Given the description of an element on the screen output the (x, y) to click on. 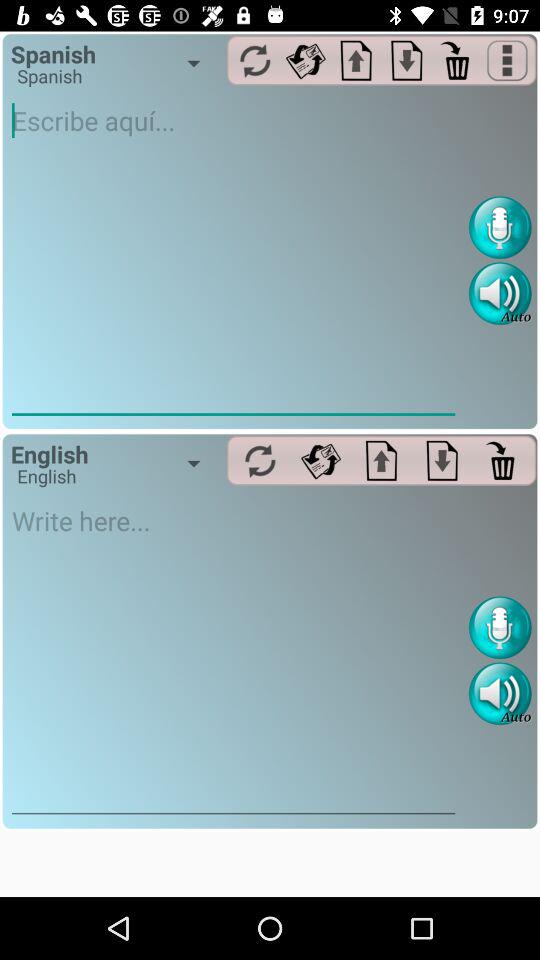
reverse area (305, 60)
